Given the description of an element on the screen output the (x, y) to click on. 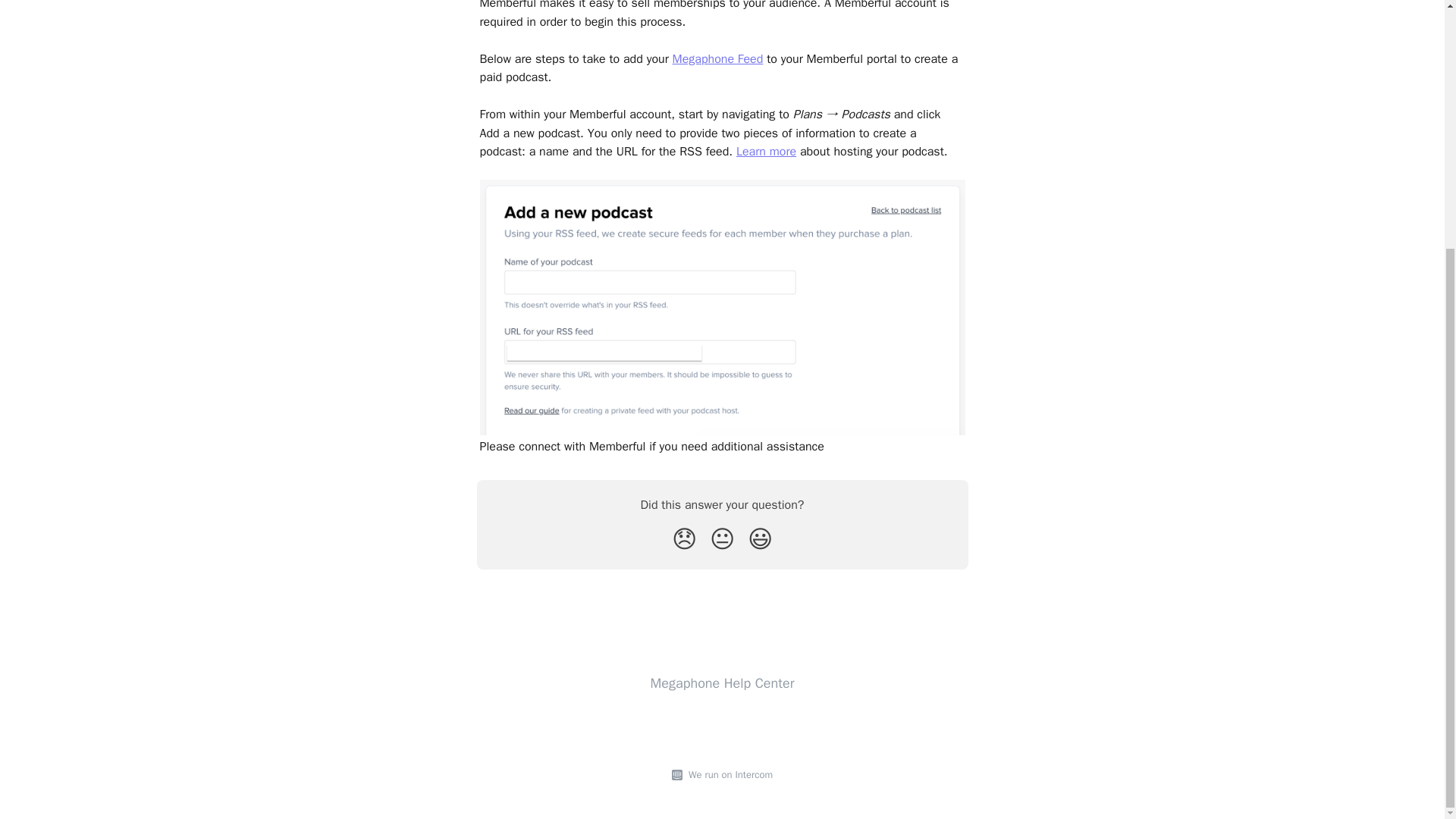
Megaphone Feed (717, 58)
Learn more (766, 151)
We run on Intercom (727, 774)
Megaphone Help Center (722, 682)
